Given the description of an element on the screen output the (x, y) to click on. 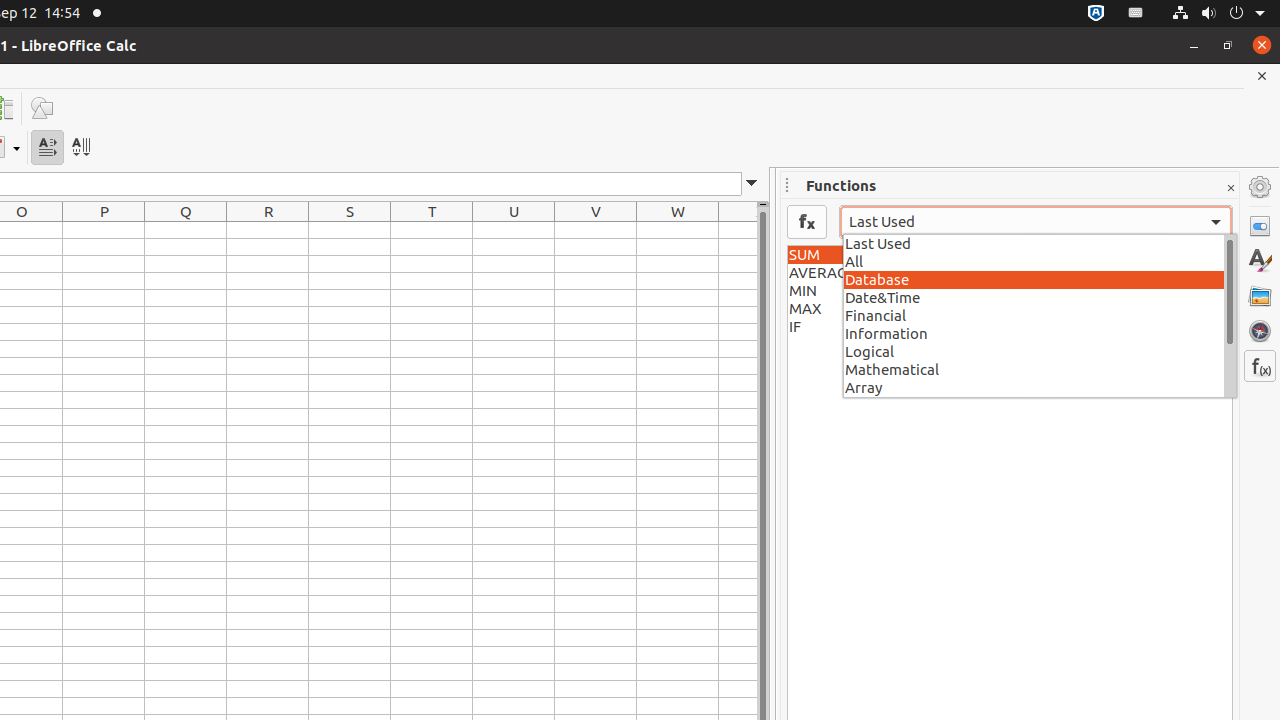
SUM Element type: list-item (1010, 255)
Draw Functions Element type: toggle-button (41, 108)
